Given the description of an element on the screen output the (x, y) to click on. 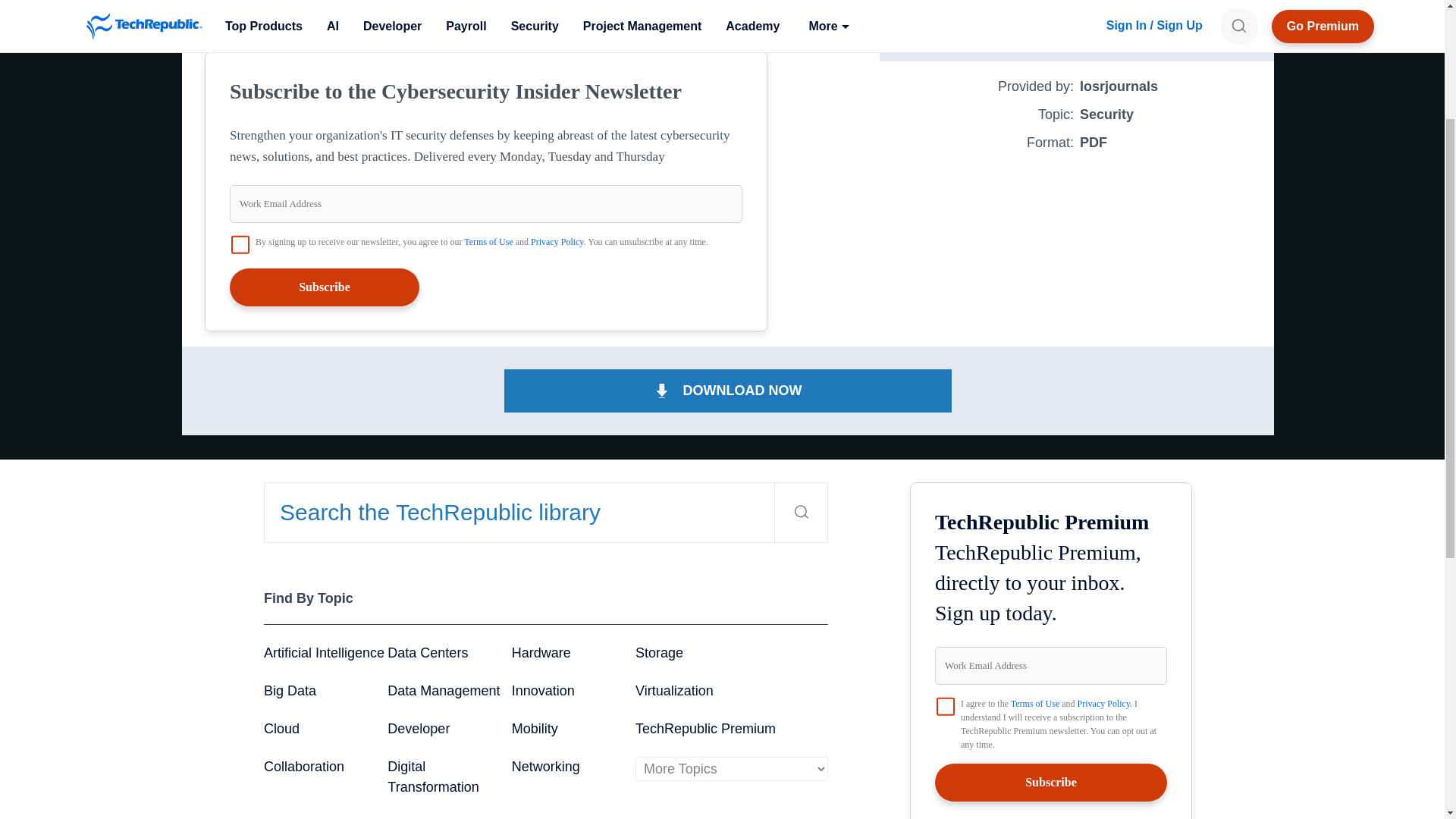
on (945, 706)
Subscribe (324, 287)
Terms of Use (488, 241)
Privacy Policy (557, 241)
DOWNLOAD NOW (727, 390)
Artificial Intelligence (323, 652)
on (239, 244)
DOWNLOAD NOW (1077, 24)
